Given the description of an element on the screen output the (x, y) to click on. 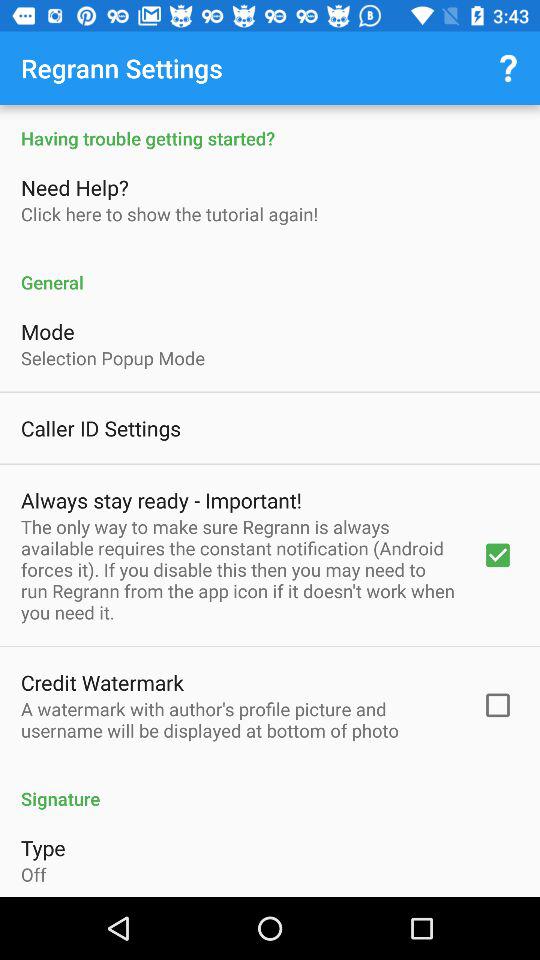
press the item below the only way item (102, 682)
